Given the description of an element on the screen output the (x, y) to click on. 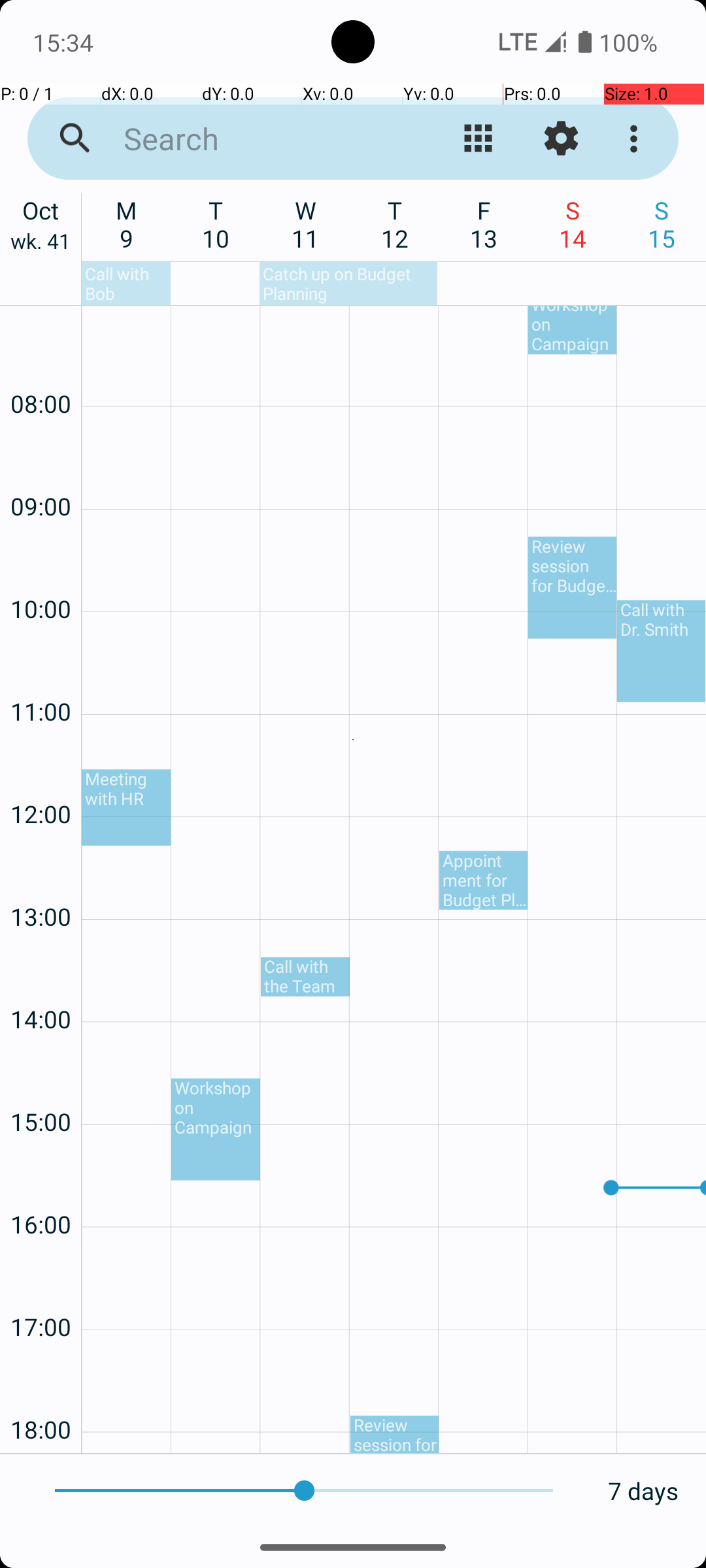
Call with Bob Element type: android.widget.TextView (125, 283)
Catch up on Budget Planning Element type: android.widget.TextView (348, 283)
Call with the Team Element type: android.widget.TextView (304, 976)
Call with Dr. Smith Element type: android.widget.TextView (661, 651)
